Given the description of an element on the screen output the (x, y) to click on. 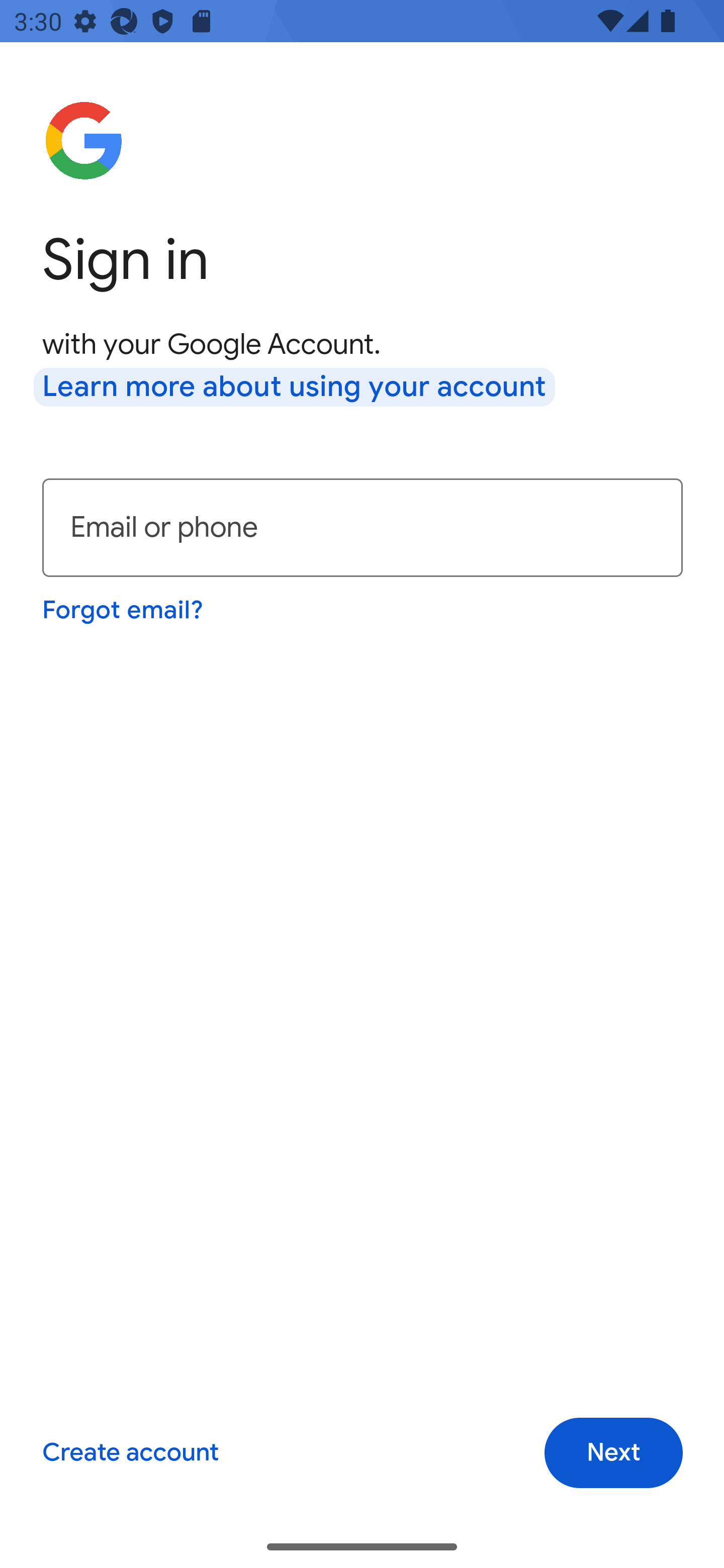
Learn more about using your account (294, 388)
Forgot email? (123, 609)
Create account (129, 1453)
Next (613, 1453)
